Given the description of an element on the screen output the (x, y) to click on. 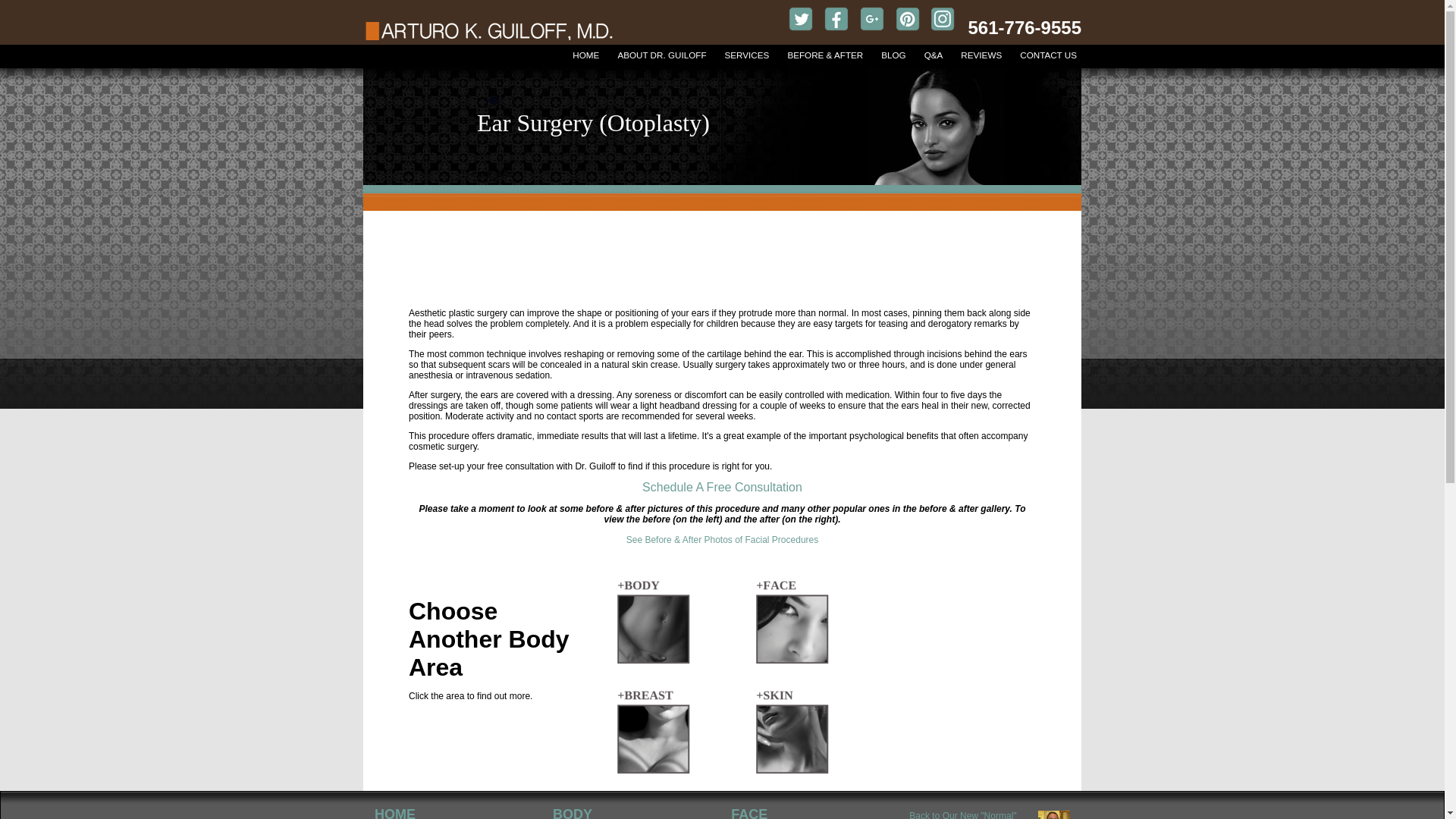
ABOUT DR. GUILOFF (661, 54)
Schedule A Free Consultation (722, 488)
CONTACT US (1048, 54)
Arturo K. Guiloff M.D. (487, 31)
Follow drguiloff on Pinterest (906, 19)
561-776-9555 (1024, 27)
Schedule A Free Consultation (722, 488)
HOME (394, 812)
REVIEWS (980, 54)
Follow Dr. Guiloff on Instagram (942, 19)
